Given the description of an element on the screen output the (x, y) to click on. 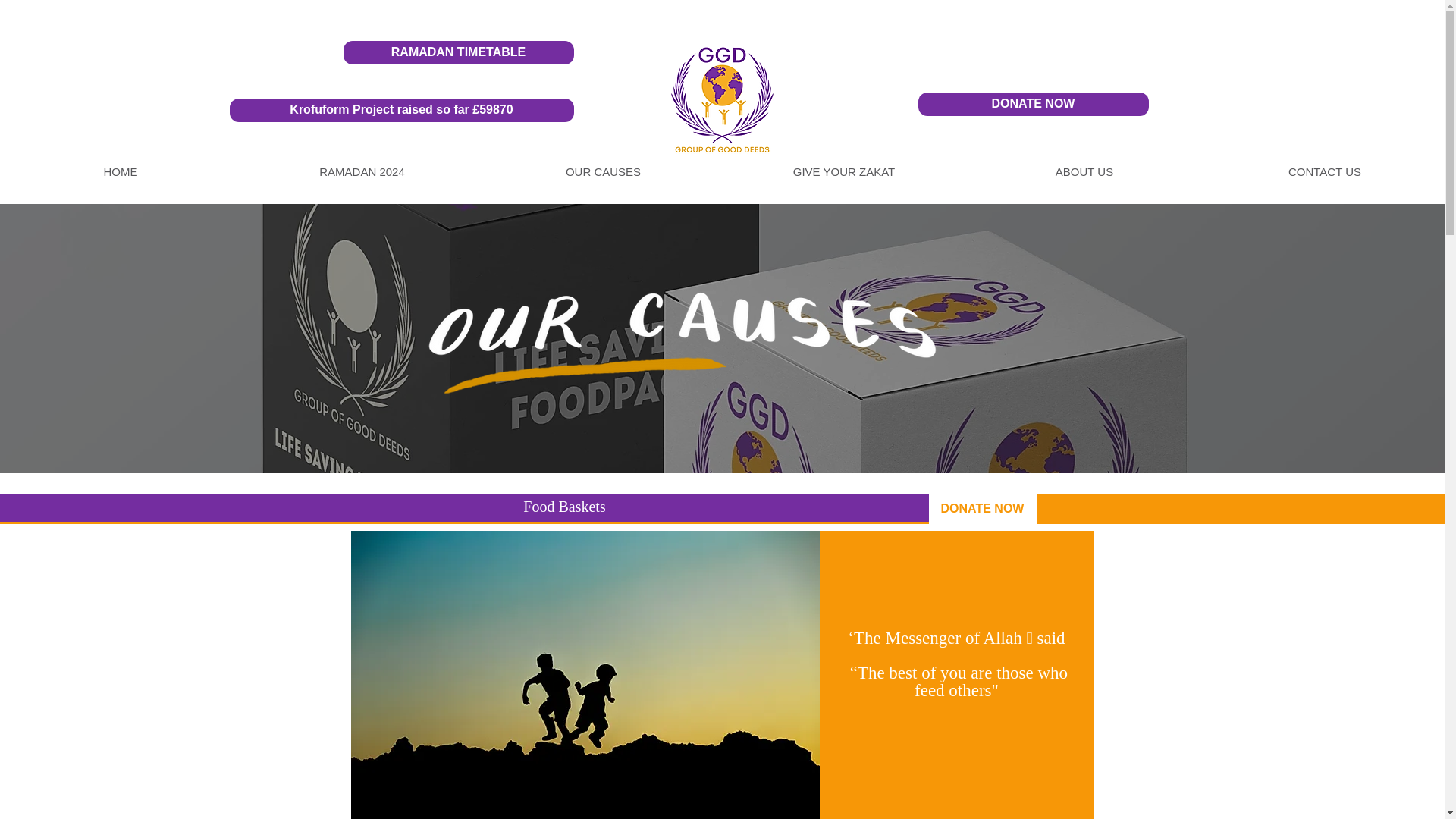
RAMADAN TIMETABLE (457, 52)
GIVE YOUR ZAKAT (843, 171)
HOME (120, 171)
DONATE NOW (1032, 104)
ABOUT US (1083, 171)
RAMADAN 2024 (361, 171)
